Given the description of an element on the screen output the (x, y) to click on. 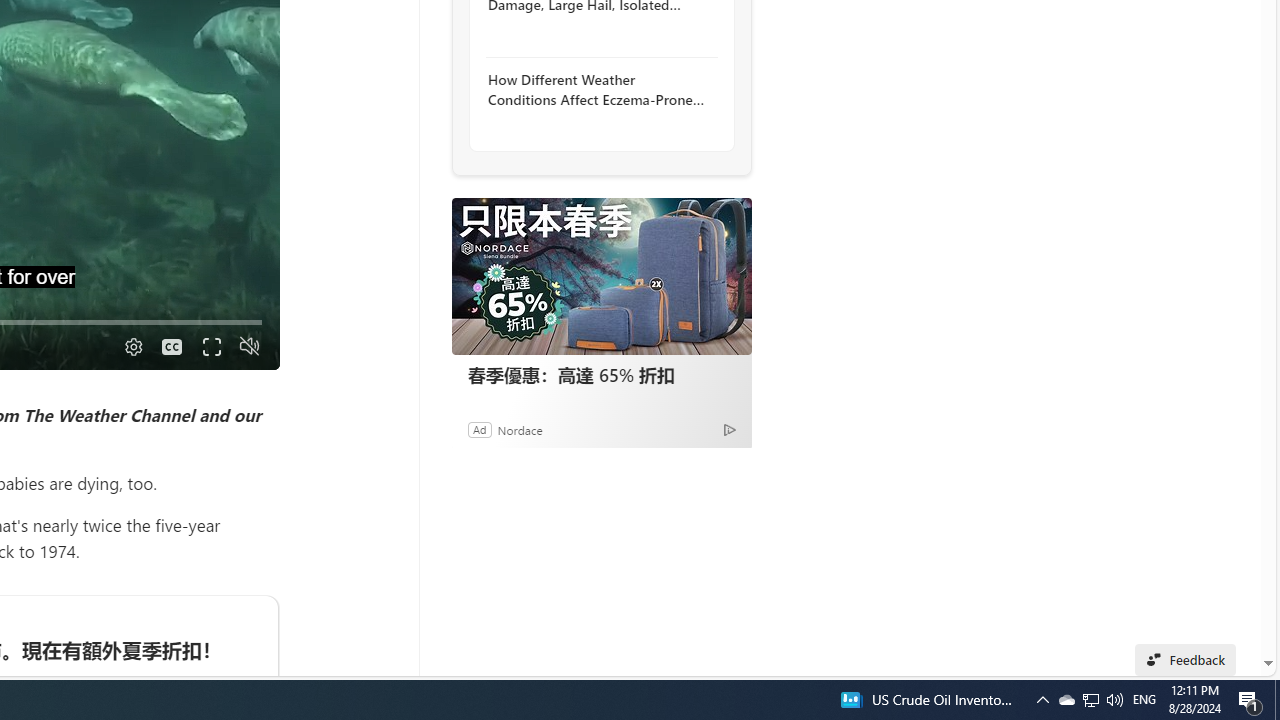
Unmute (249, 347)
Quality Settings (131, 347)
Ad Choice (729, 429)
Feedback (1185, 659)
How Different Weather Conditions Affect Eczema-Prone Skin (596, 89)
Fullscreen (210, 347)
Captions (171, 347)
Ad (479, 429)
